Given the description of an element on the screen output the (x, y) to click on. 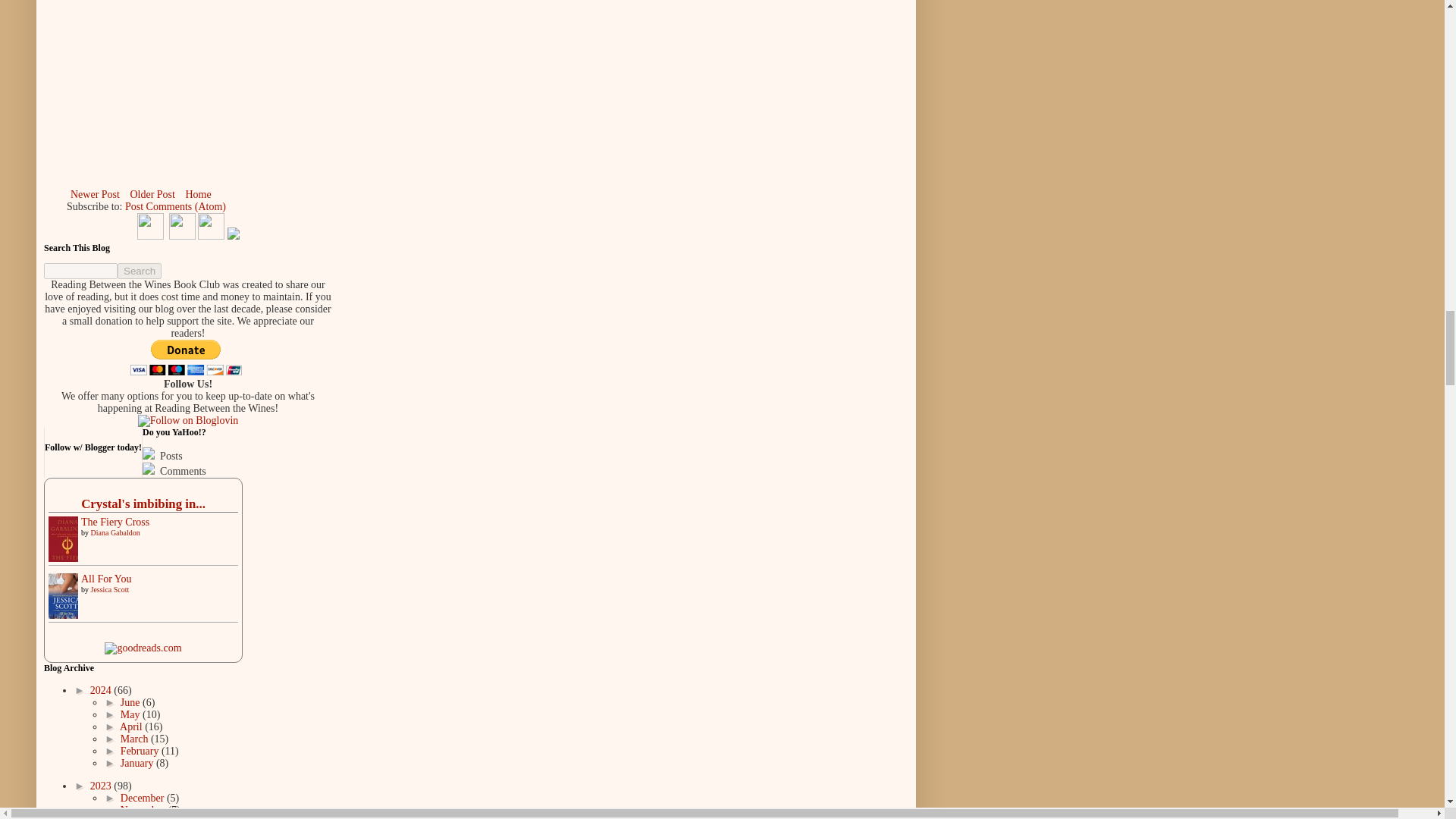
Home (197, 194)
Older Post (152, 194)
Search (139, 270)
search (139, 270)
Newer Post (94, 194)
search (80, 270)
Older Post (152, 194)
Search (139, 270)
Newer Post (94, 194)
Search (139, 270)
